Given the description of an element on the screen output the (x, y) to click on. 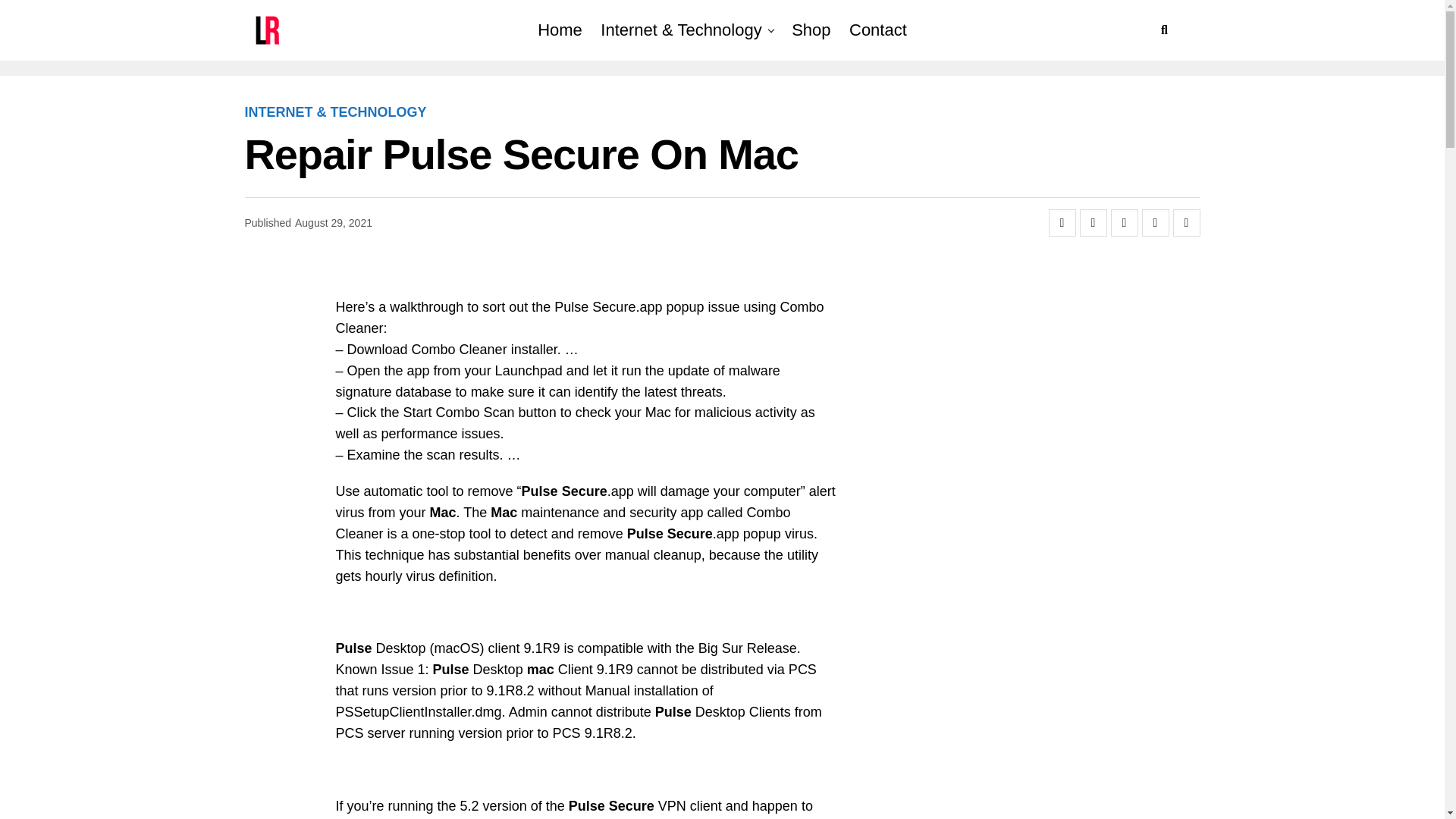
Tweet This Post (1093, 222)
Share on Facebook (1061, 222)
Contact (877, 30)
Home (559, 30)
